Given the description of an element on the screen output the (x, y) to click on. 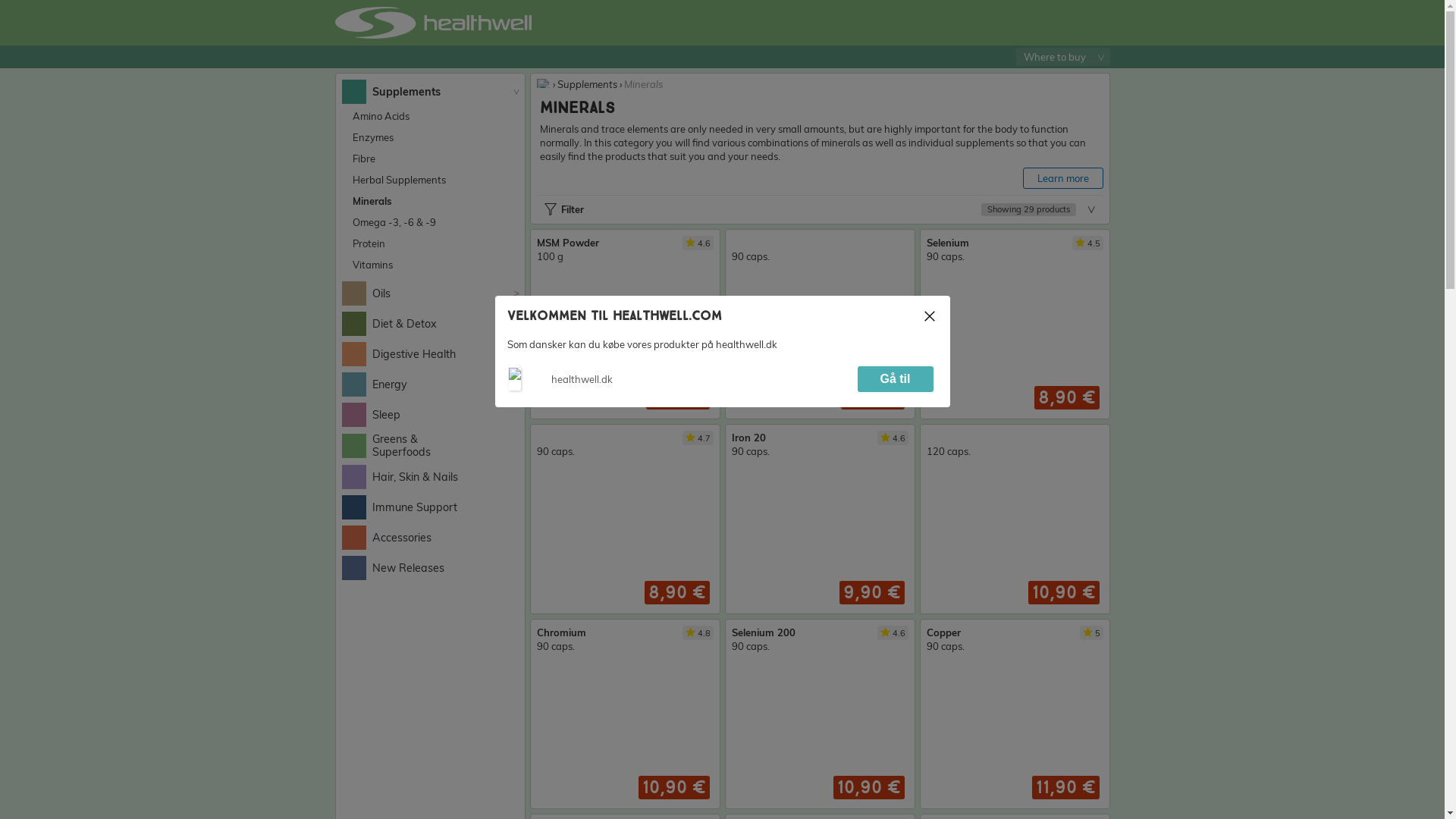
New Releases (392, 567)
Enzymes (374, 136)
Fibre (364, 158)
Energy (373, 384)
Herbal Supplements (400, 179)
Accessories (385, 537)
Protein (369, 242)
Oils (365, 293)
Immune Support (398, 507)
Sleep (369, 414)
